Given the description of an element on the screen output the (x, y) to click on. 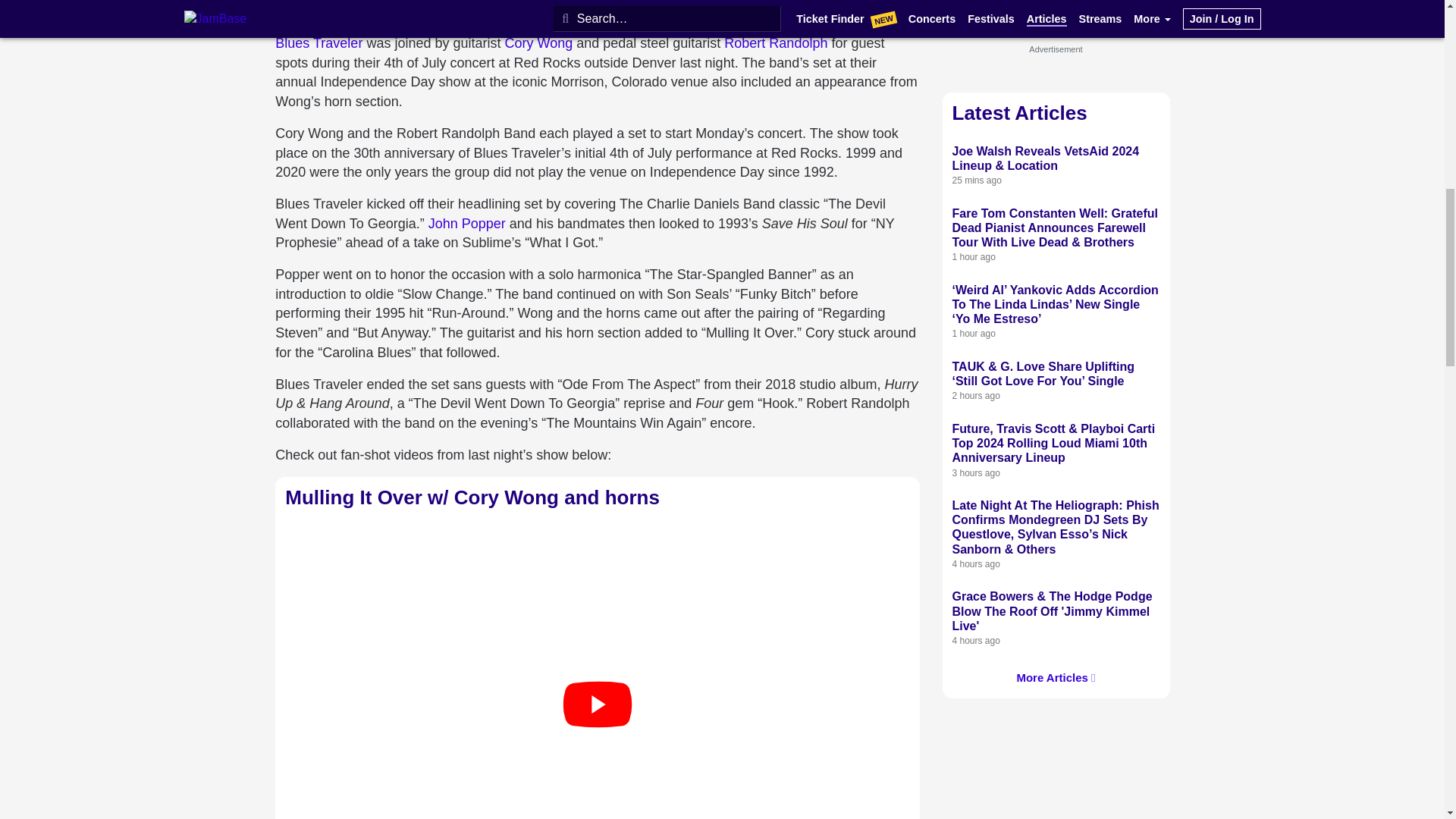
Cory Wong (537, 43)
Photo by Jeremy Williams (340, 6)
John Popper (466, 223)
Robert Randolph (775, 43)
Blues Traveler (318, 43)
